Given the description of an element on the screen output the (x, y) to click on. 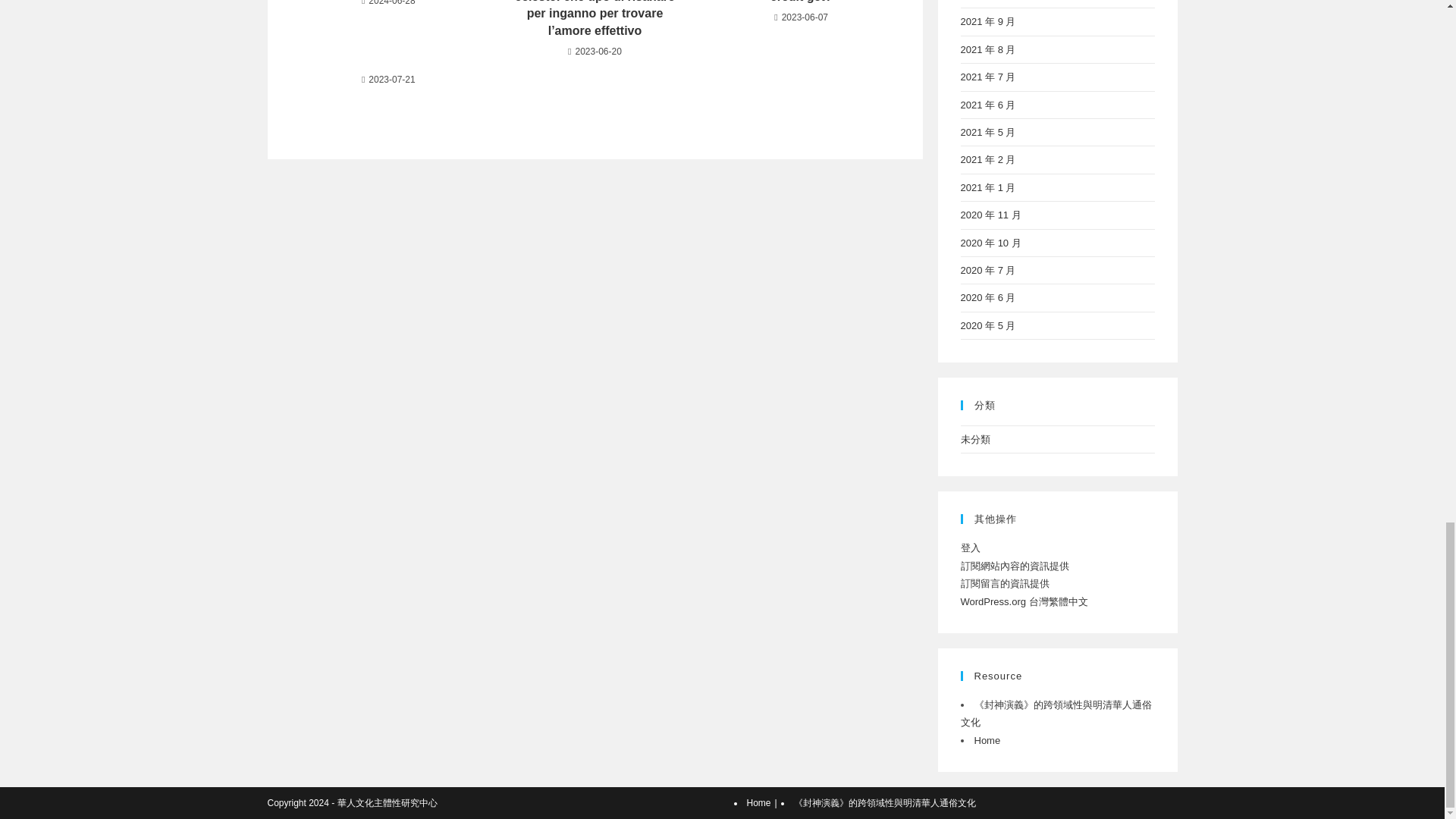
What do lenders think a poor credit get? (801, 2)
